Given the description of an element on the screen output the (x, y) to click on. 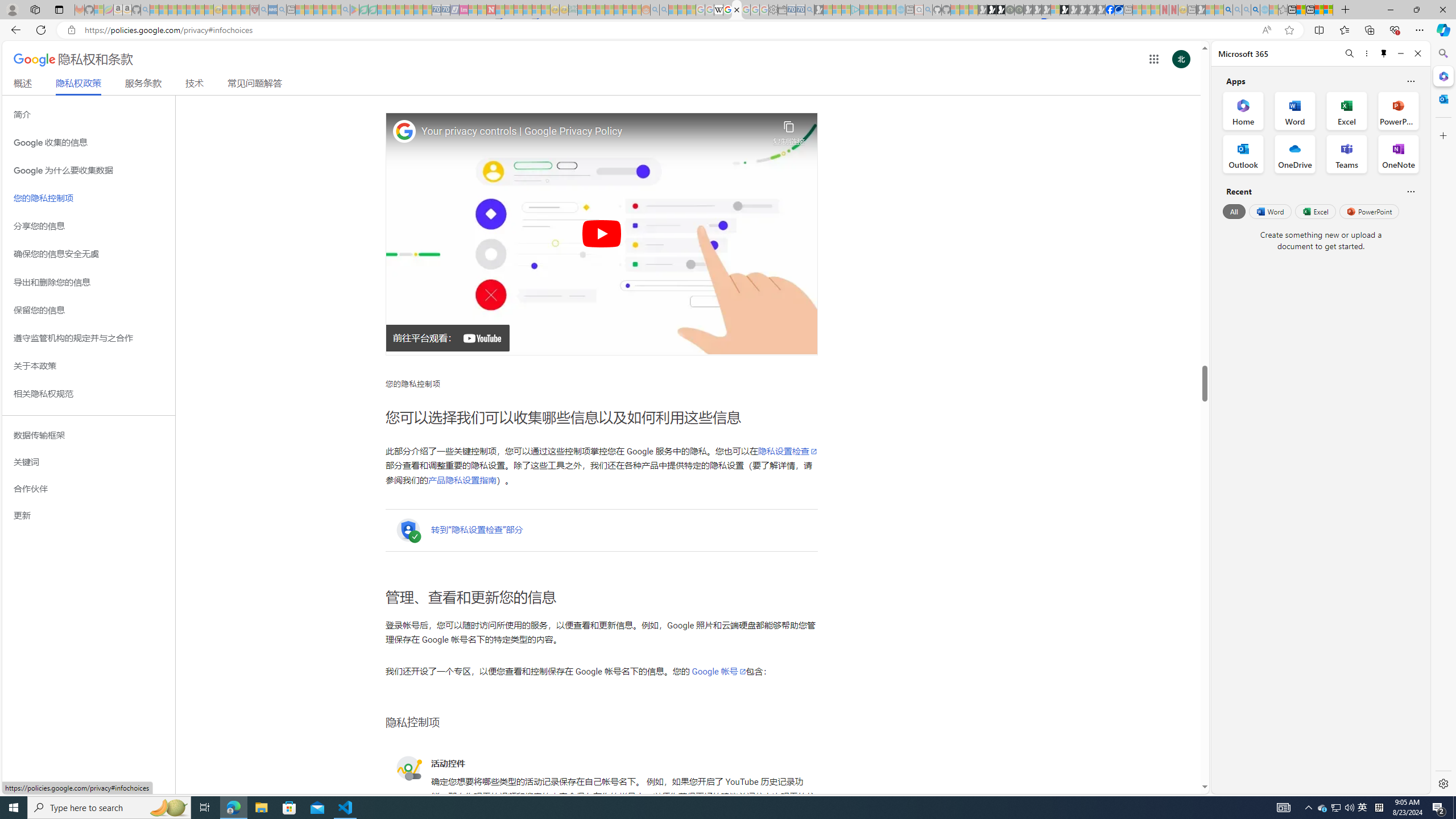
Word Office App (1295, 110)
